Given the description of an element on the screen output the (x, y) to click on. 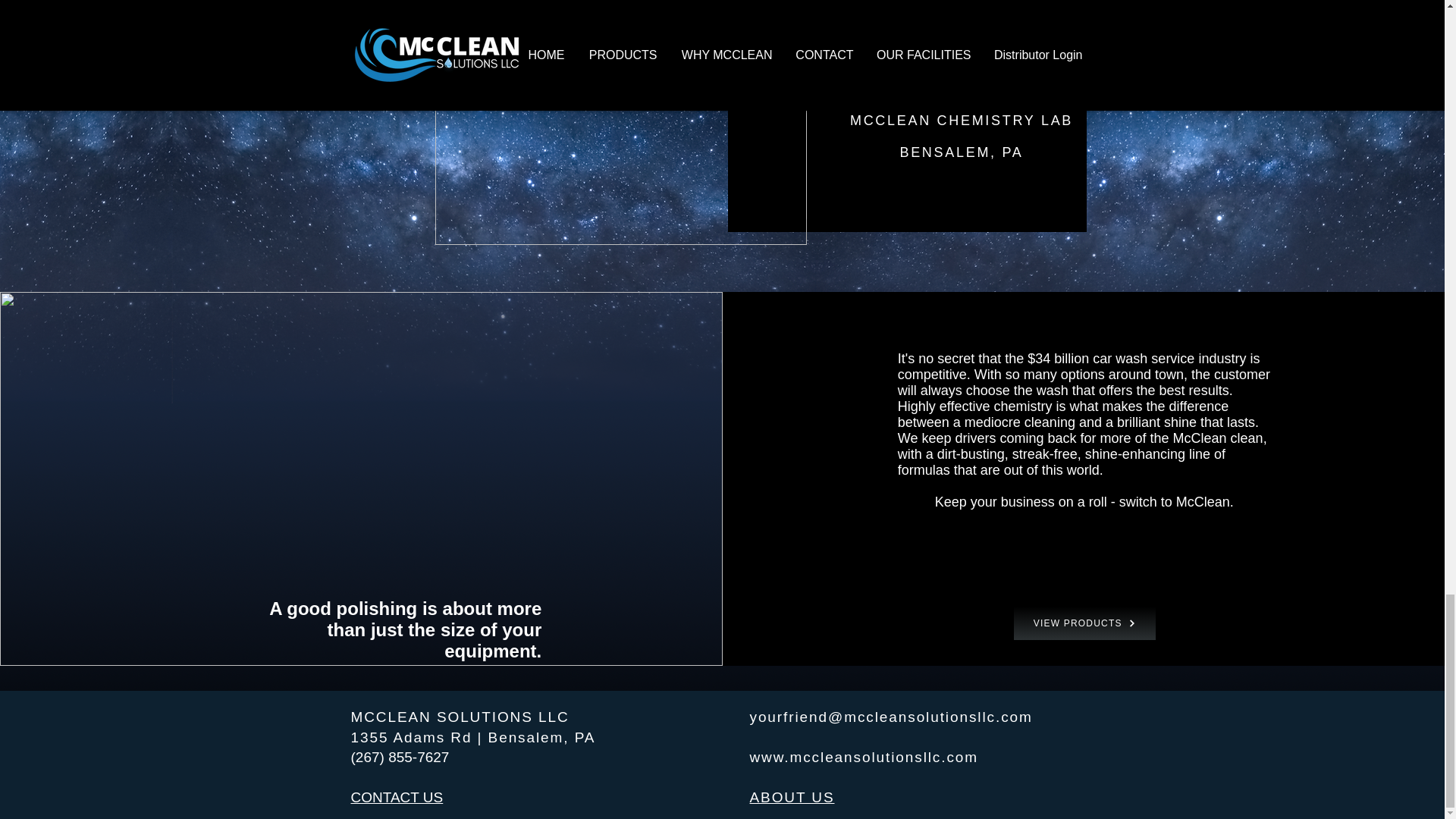
www.mccleansolutionsllc.com (863, 756)
VIEW PRODUCTS (1084, 622)
CONTACT US (396, 797)
ABOUT US (791, 797)
